Given the description of an element on the screen output the (x, y) to click on. 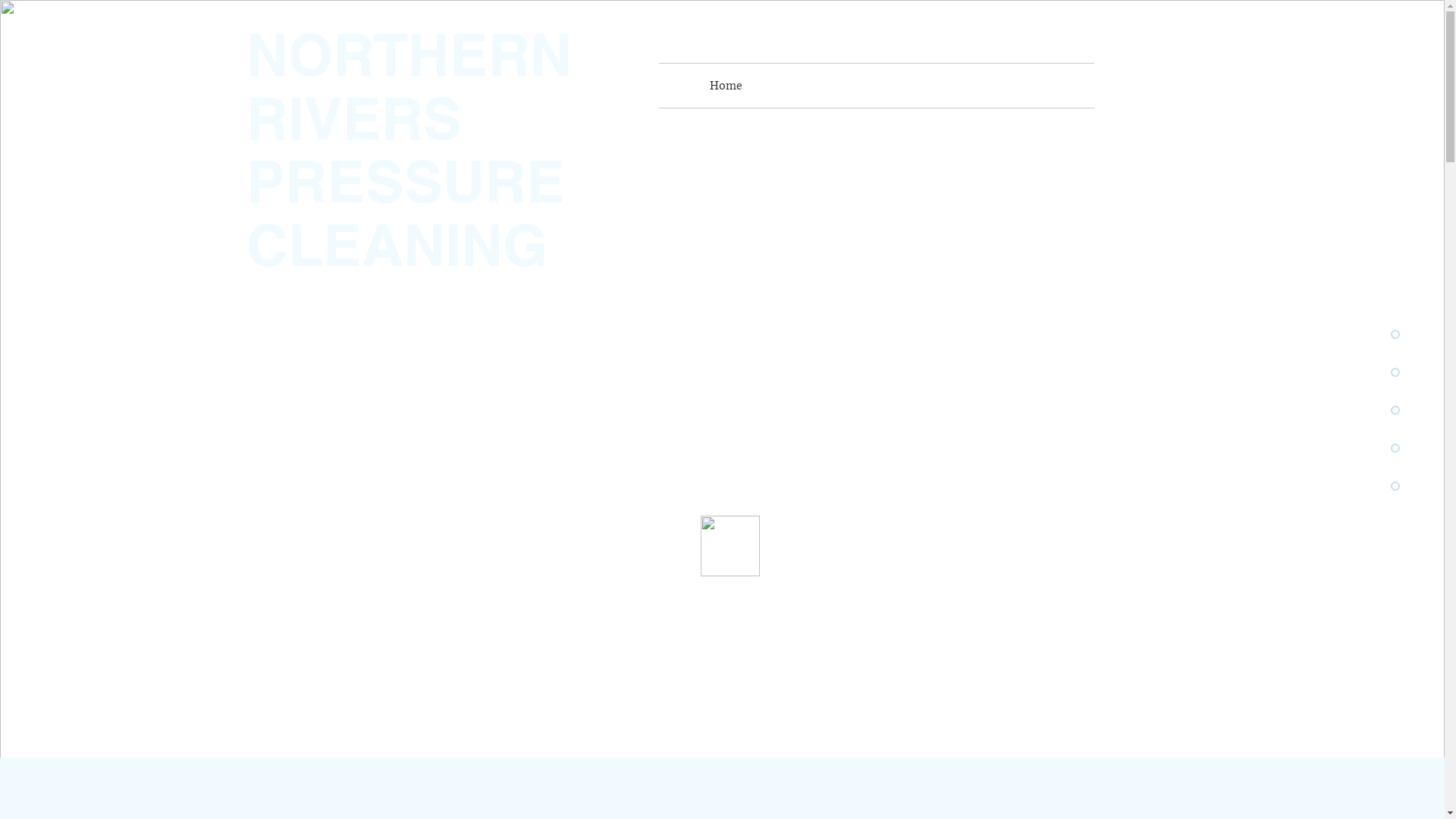
Quote Element type: text (1026, 85)
Home Element type: text (725, 85)
Photos Element type: text (903, 85)
Contact Element type: text (965, 85)
NRPC Element type: text (846, 85)
Services Element type: text (786, 85)
